Given the description of an element on the screen output the (x, y) to click on. 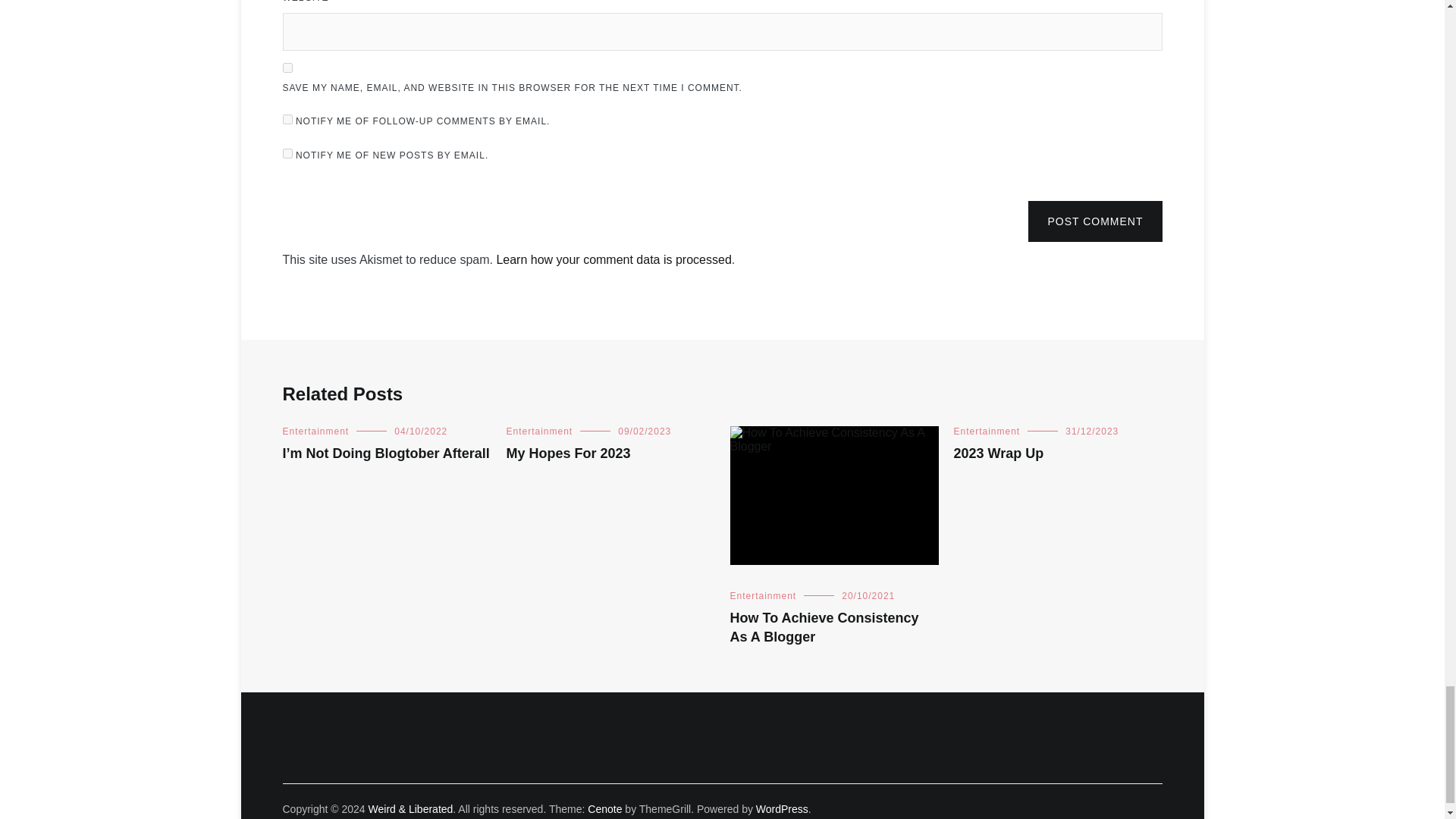
yes (287, 67)
subscribe (287, 119)
subscribe (287, 153)
